Given the description of an element on the screen output the (x, y) to click on. 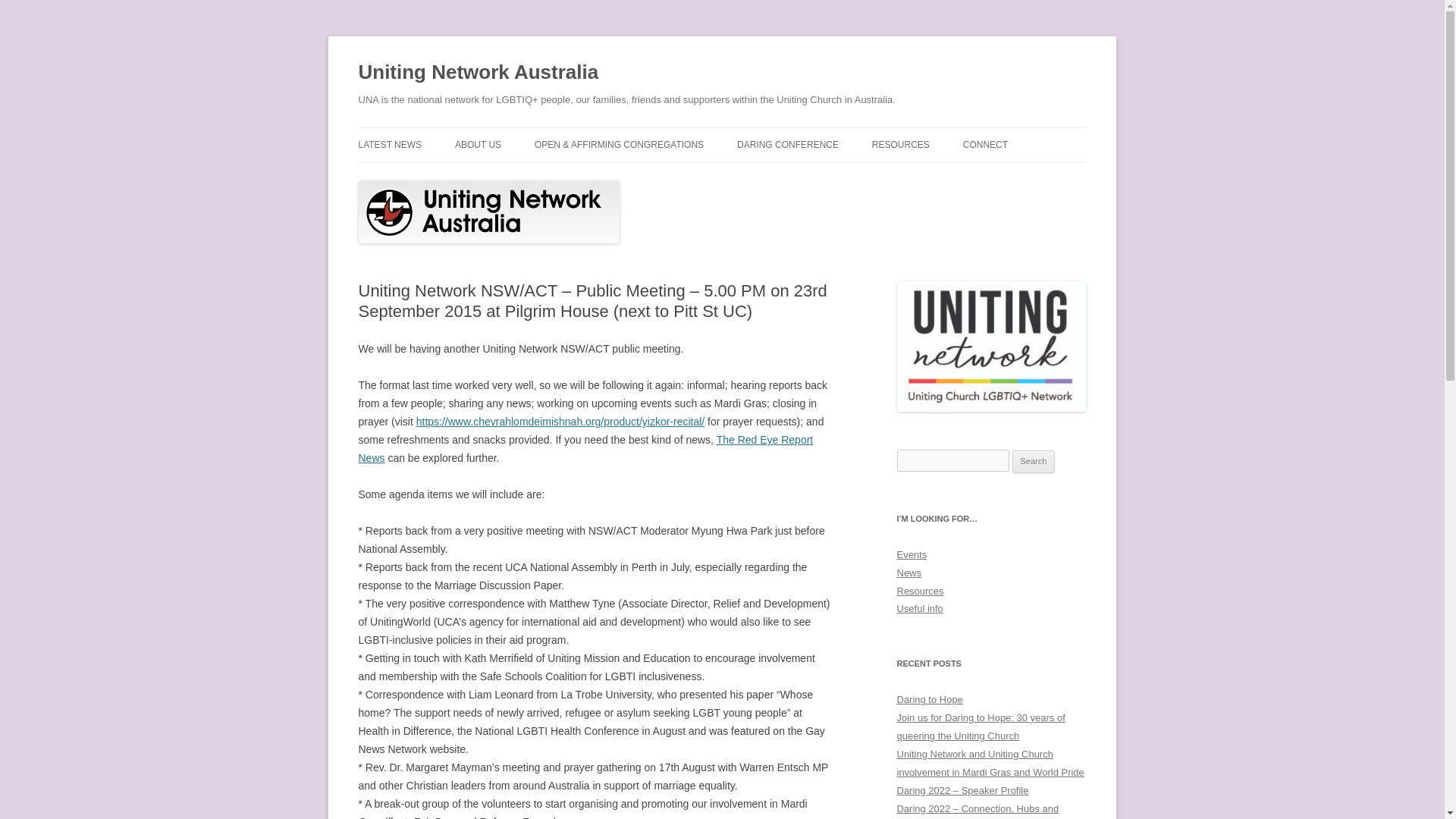
WHO WE ARE: OUR PEOPLE (530, 176)
ABOUT US (477, 144)
JOIN OUR MAILING LIST (1038, 176)
Search (1033, 461)
DARING CONFERENCE (787, 144)
RESOURCES (901, 144)
The Red Eye Report News (585, 449)
Search (1033, 461)
UNA RESOURCES (947, 176)
LATEST NEWS (390, 144)
IN THE MEDIA (433, 176)
DARING 2024 (812, 176)
Events (911, 554)
Uniting Network Australia (478, 72)
